Given the description of an element on the screen output the (x, y) to click on. 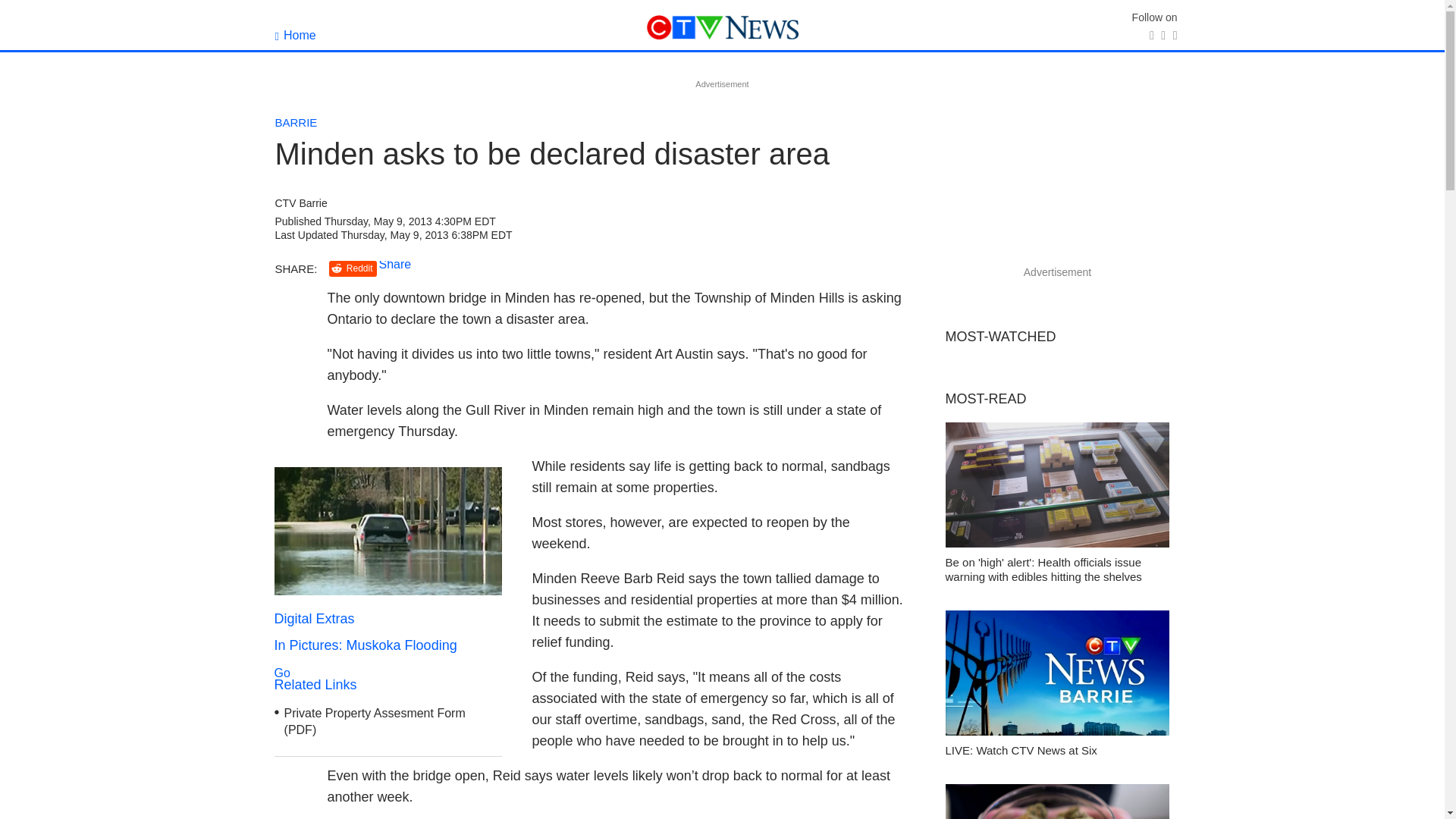
Share (395, 264)
BARRIE (296, 122)
More about Digital Extras (388, 530)
Home (388, 643)
Reddit (295, 34)
More about Digital Extras (353, 268)
More about Digital Extras (388, 590)
